Given the description of an element on the screen output the (x, y) to click on. 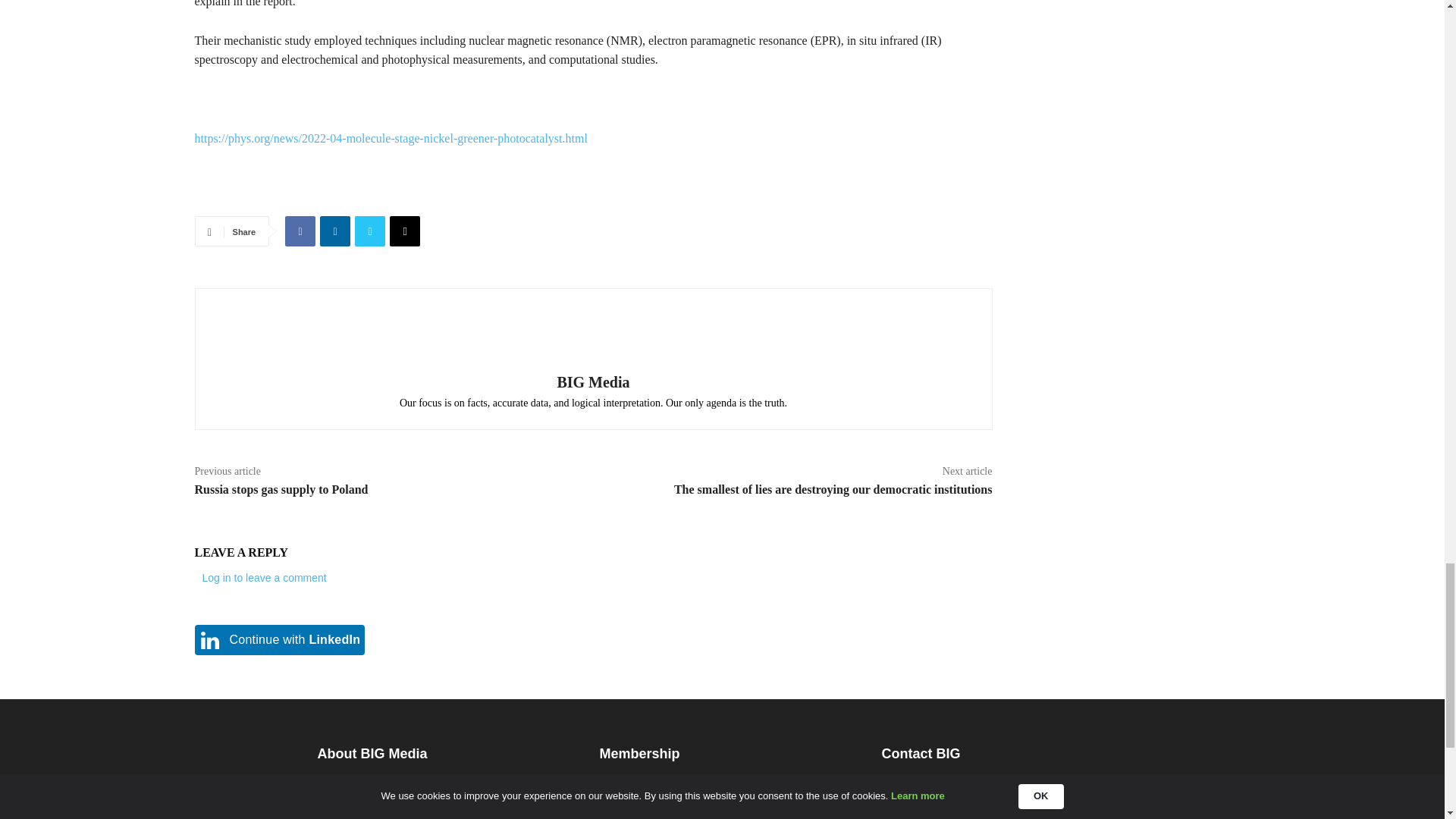
Linkedin (335, 231)
Facebook (300, 231)
